Given the description of an element on the screen output the (x, y) to click on. 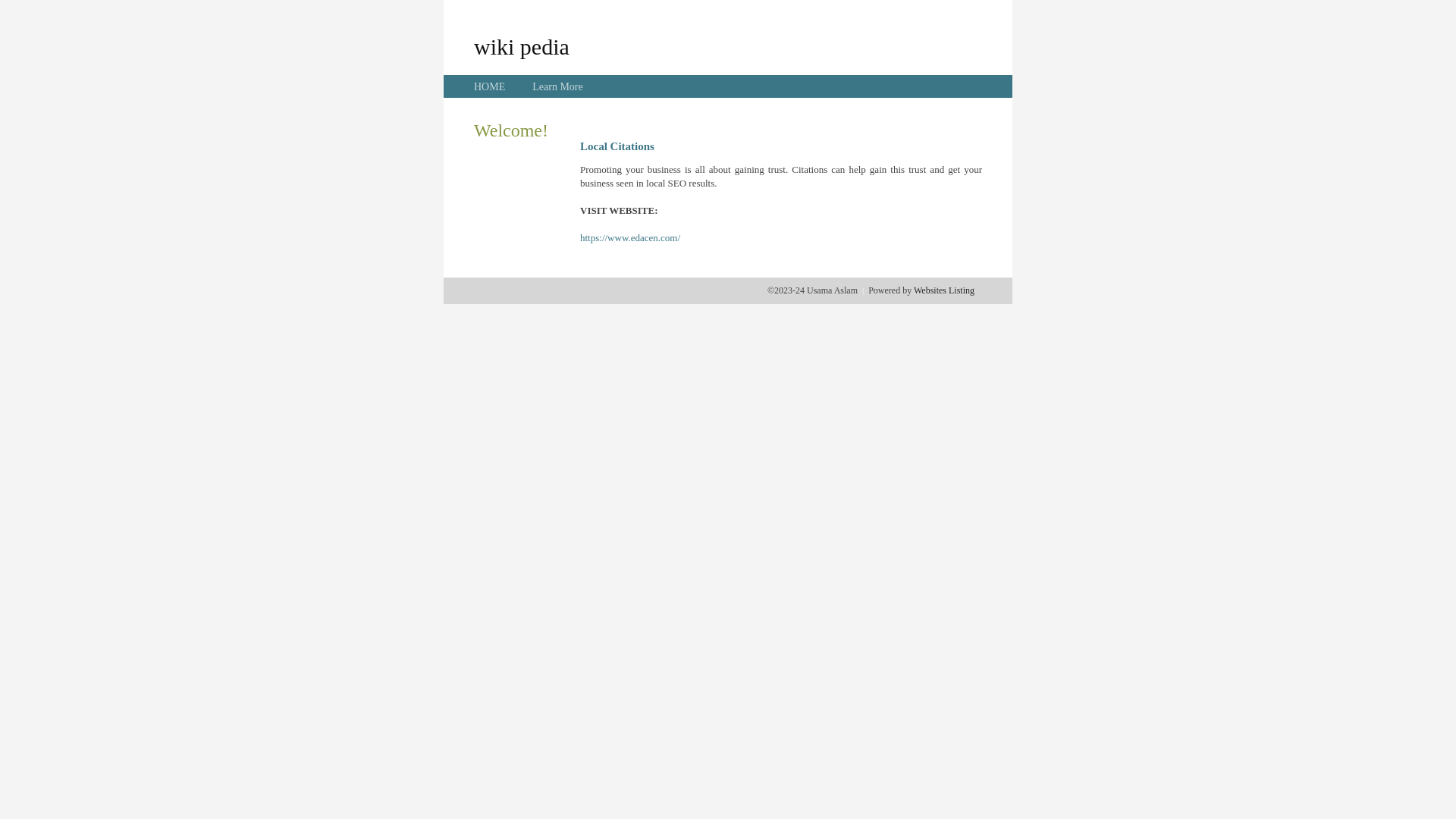
Learn More Element type: text (557, 86)
wiki pedia Element type: text (521, 46)
https://www.edacen.com/ Element type: text (630, 237)
HOME Element type: text (489, 86)
Websites Listing Element type: text (943, 290)
